Given the description of an element on the screen output the (x, y) to click on. 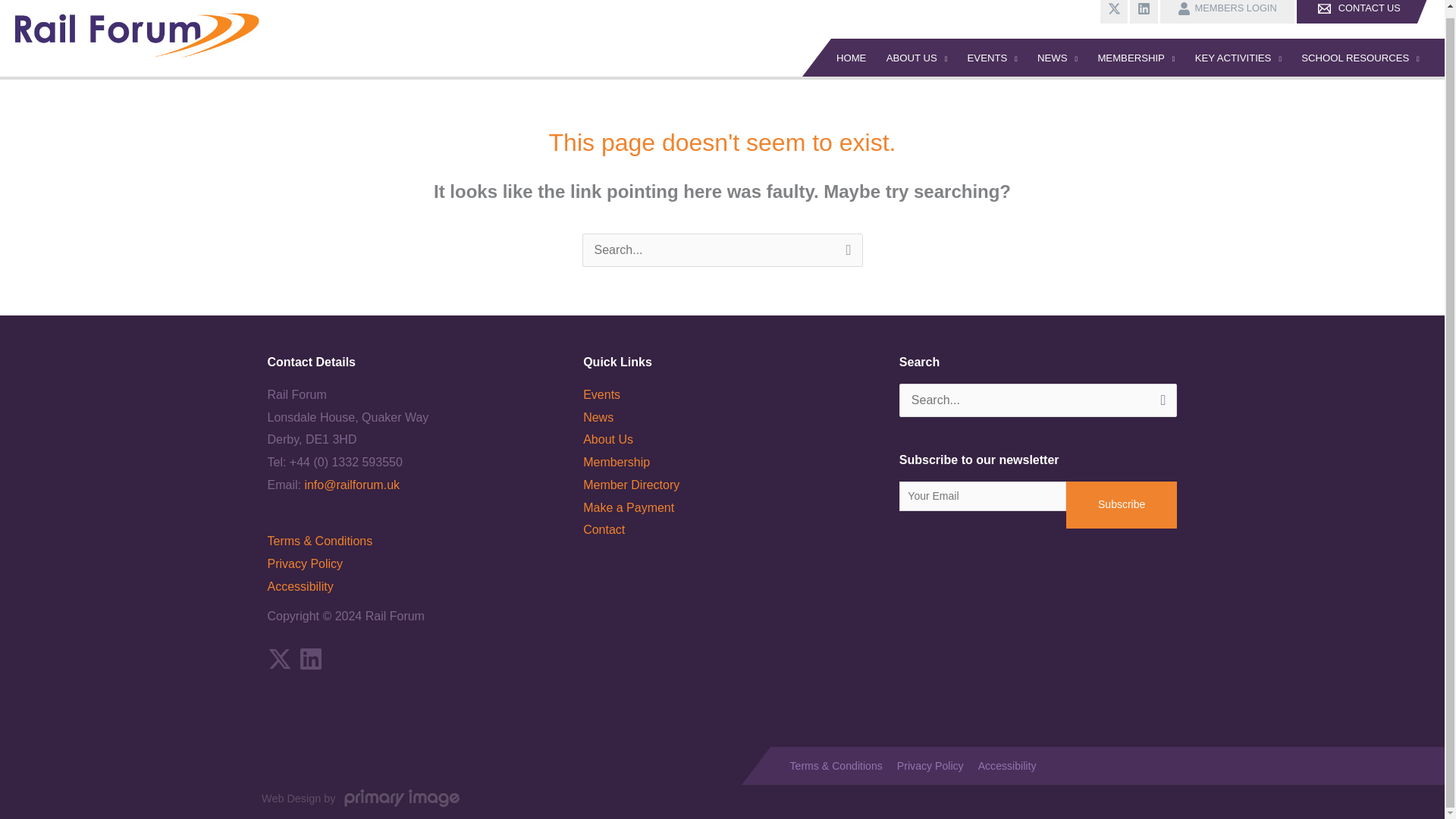
CONTACT US (1361, 11)
Primary Image Website Designers (401, 799)
KEY ACTIVITIES (1238, 57)
NEWS (1057, 57)
Subscribe (1121, 504)
MEMBERS LOGIN (1225, 11)
MEMBERSHIP (1136, 57)
SCHOOL RESOURCES (1360, 57)
EVENTS (991, 57)
HOME (839, 57)
ABOUT US (917, 57)
